Given the description of an element on the screen output the (x, y) to click on. 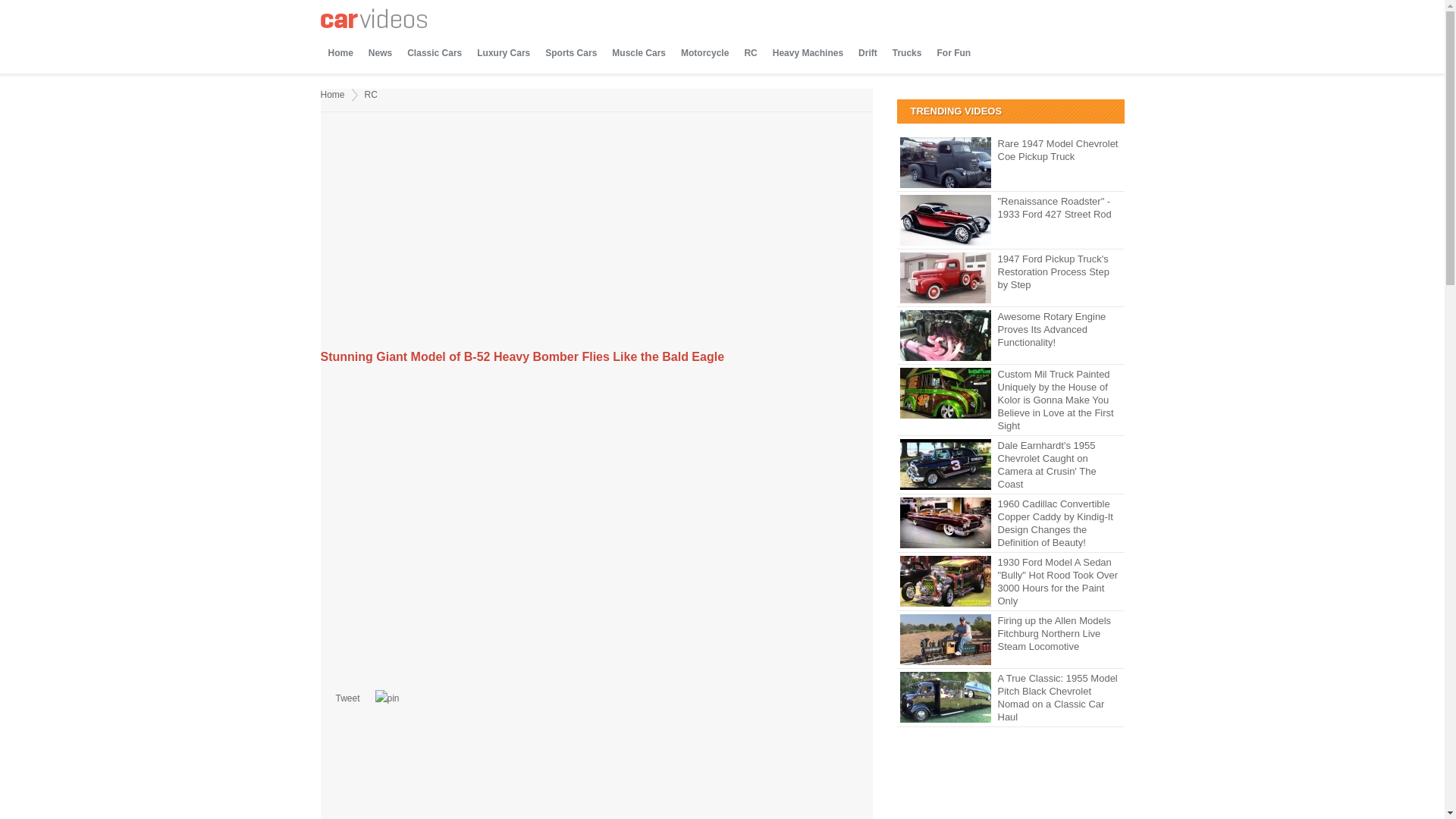
Trucks (907, 53)
Home (339, 53)
Sports Cars (570, 53)
Home (331, 94)
Luxury Cars (502, 53)
For Fun (953, 53)
Awesome Rotary Engine Proves Its Advanced Functionality! (1010, 329)
RC (371, 94)
